Given the description of an element on the screen output the (x, y) to click on. 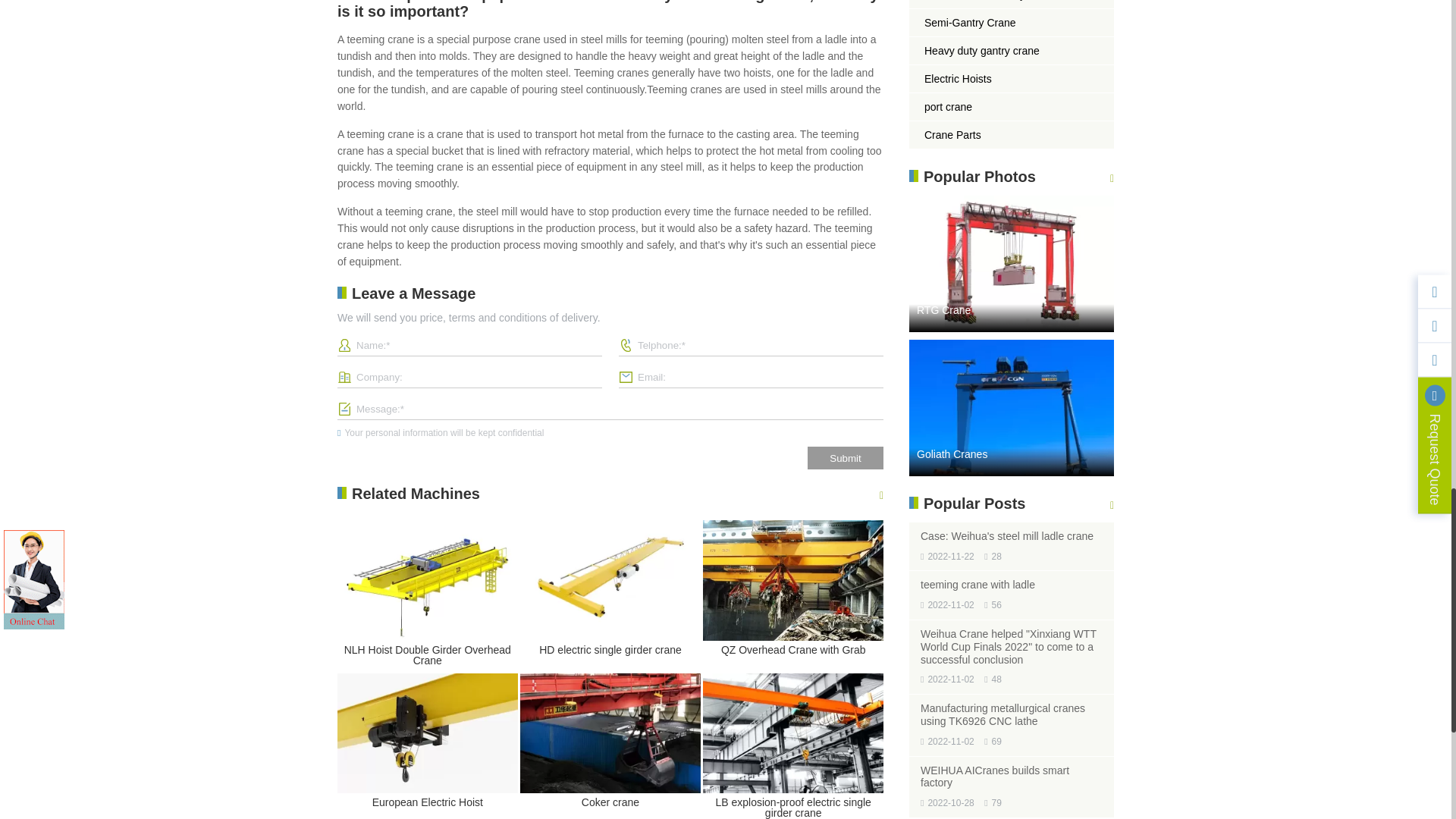
Submit (845, 457)
